Given the description of an element on the screen output the (x, y) to click on. 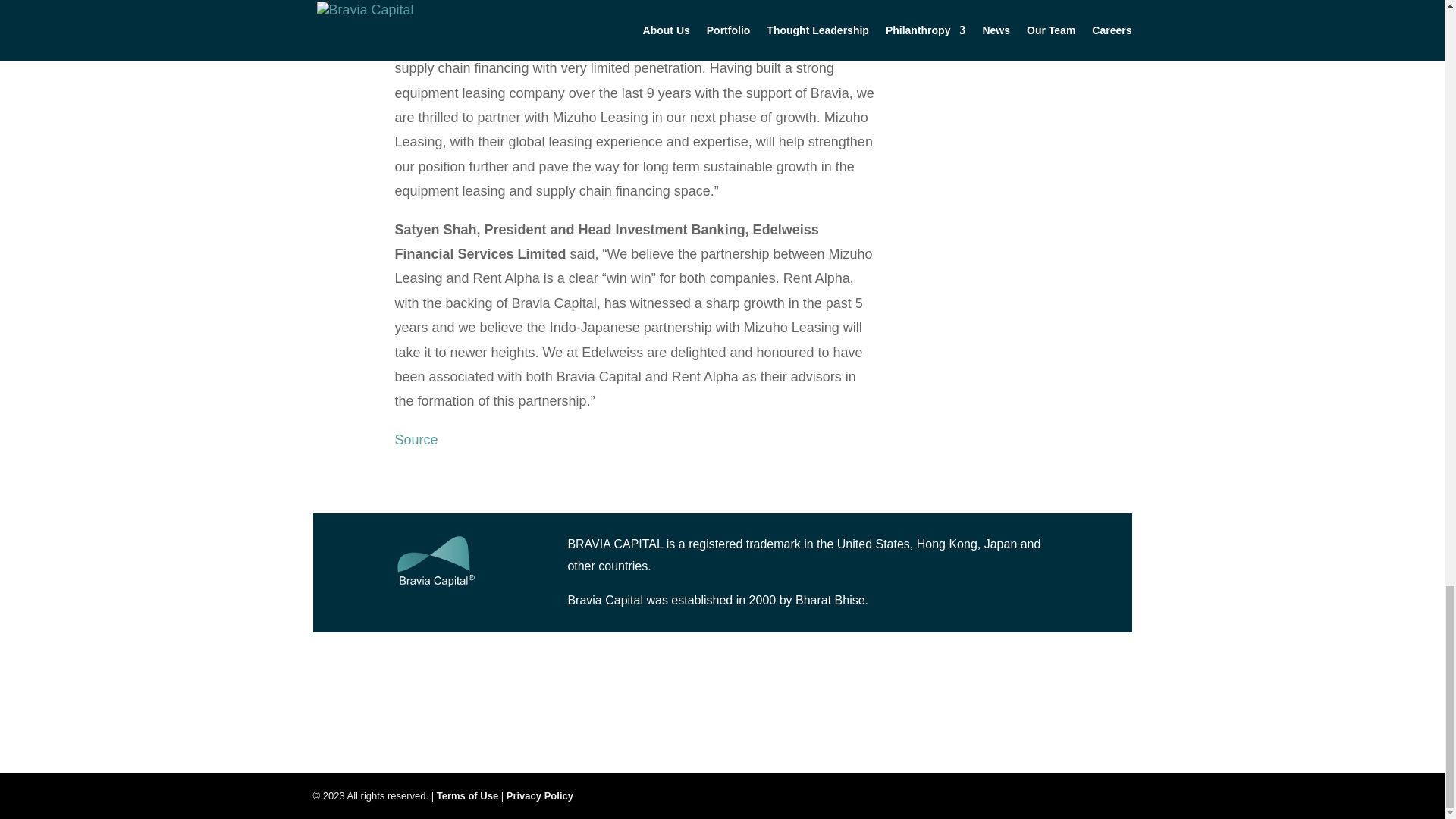
bravia-logo-white (435, 562)
Terms of Use (468, 794)
Privacy Policy (539, 794)
Source (416, 439)
